Given the description of an element on the screen output the (x, y) to click on. 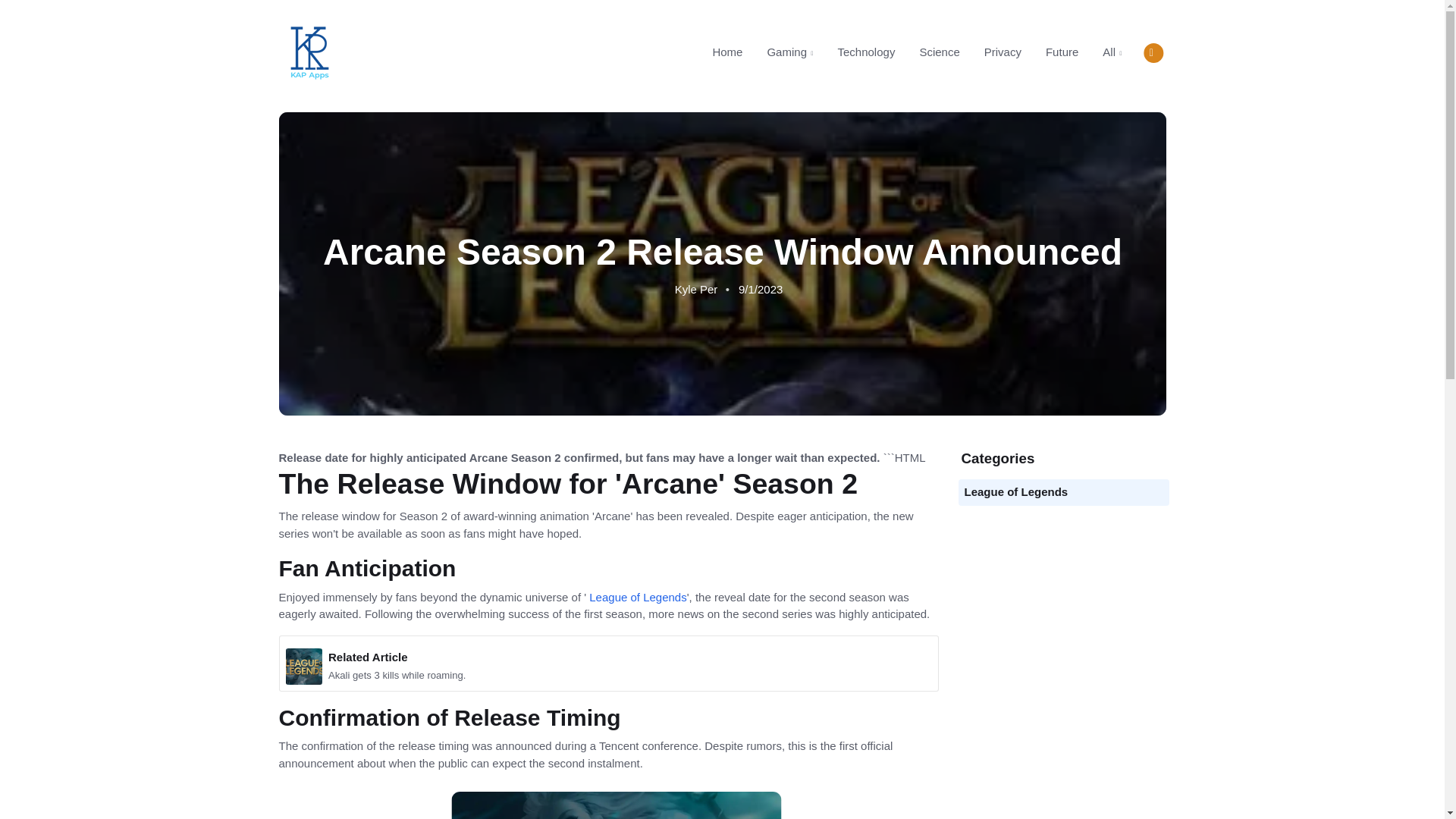
Technology (866, 52)
League of Legends (636, 596)
League of Legends (1015, 491)
Kyle Per (695, 288)
Gaming (789, 52)
Privacy (910, 52)
Science (1002, 52)
